Given the description of an element on the screen output the (x, y) to click on. 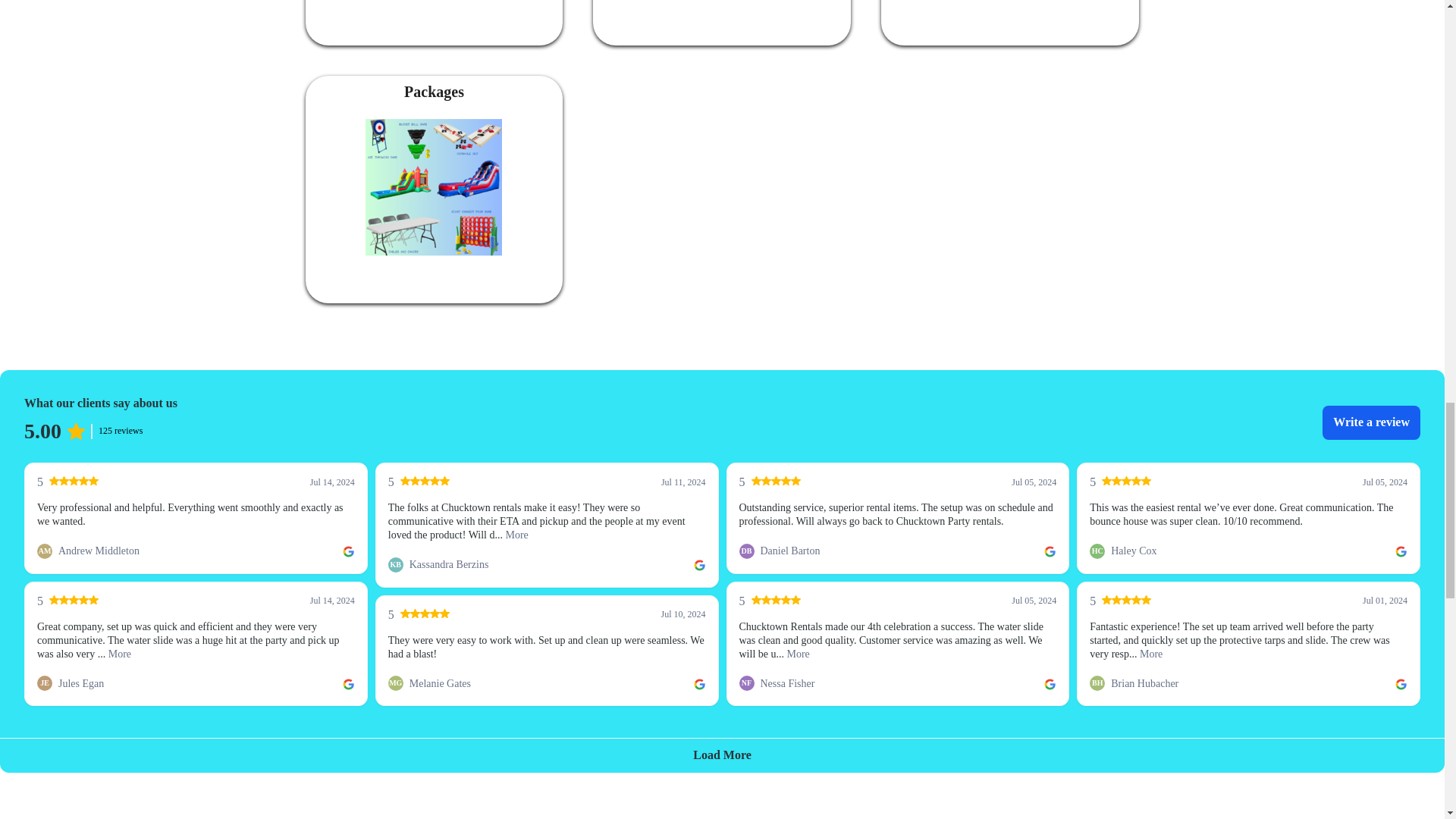
Packages (433, 186)
